Given the description of an element on the screen output the (x, y) to click on. 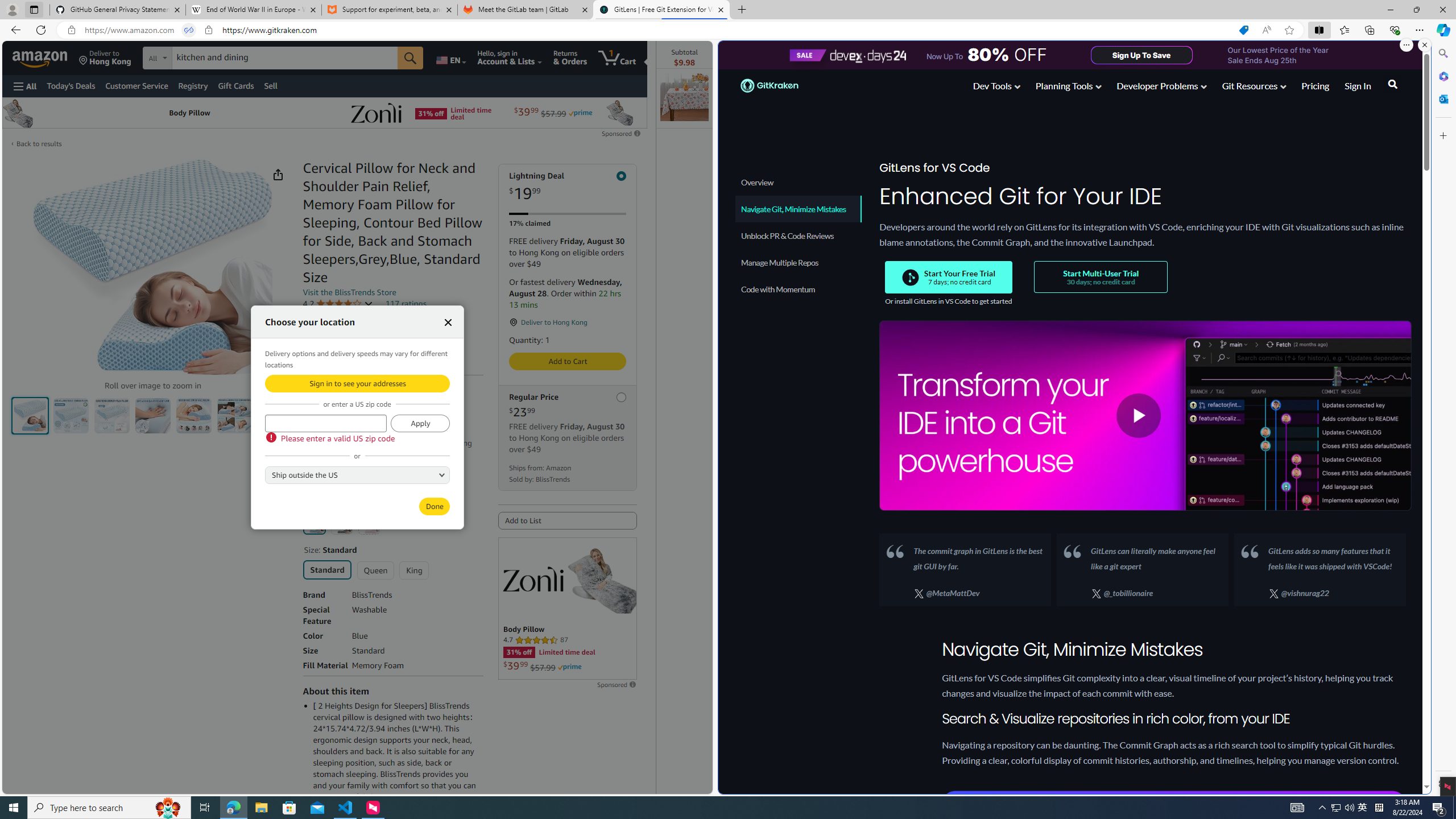
Close split screen. (1424, 45)
King (414, 570)
Tabs in split screen (189, 29)
Grey (341, 522)
Manage Multiple Repos (798, 262)
Amazon (40, 57)
Prime (569, 666)
Add to Cart (567, 360)
Today's Deals (71, 85)
Sustainability features 1 sustainability feature  (356, 350)
Sustainability features (308, 350)
